Given the description of an element on the screen output the (x, y) to click on. 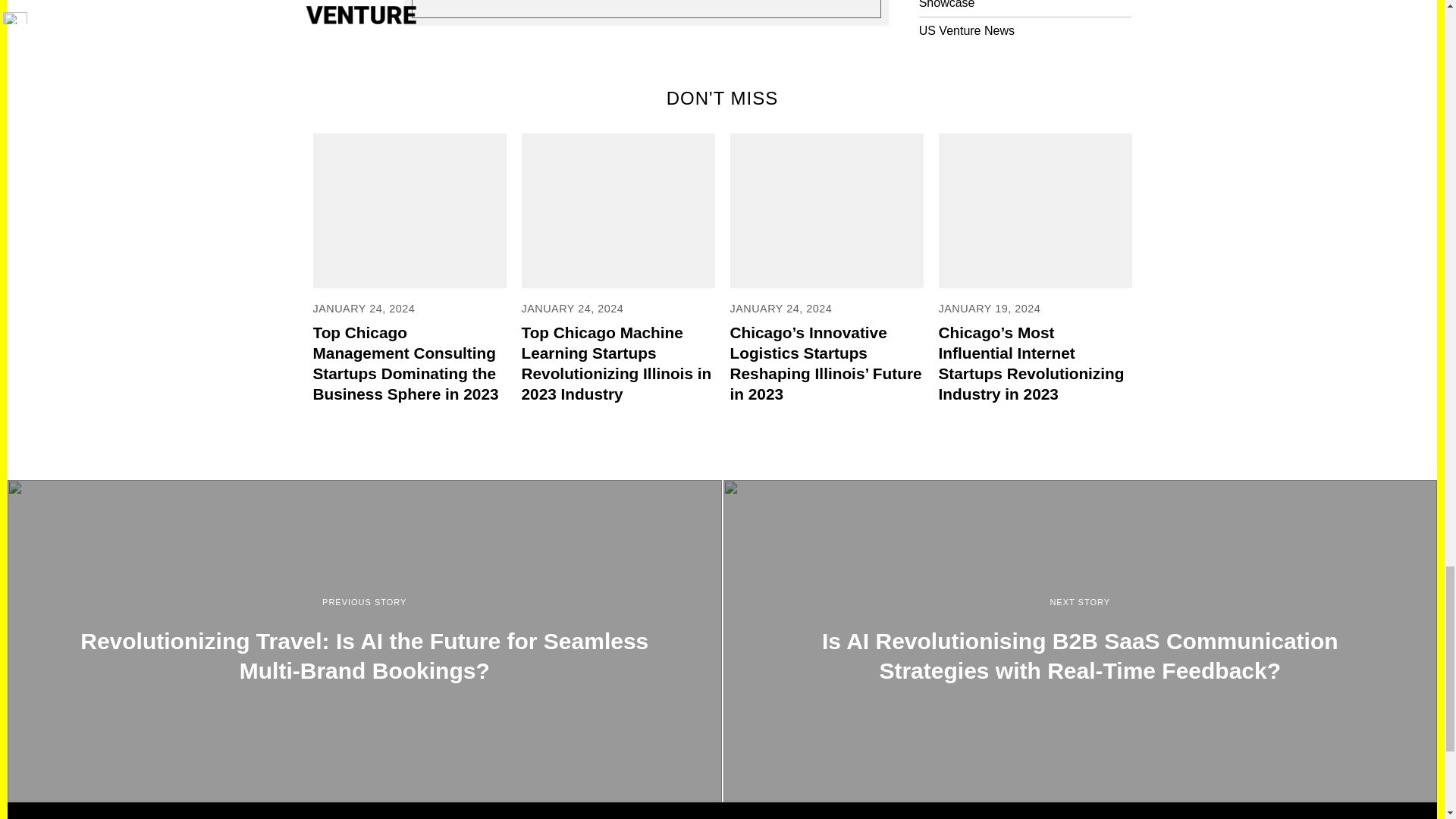
Showcase (946, 4)
US Venture News (966, 30)
